Given the description of an element on the screen output the (x, y) to click on. 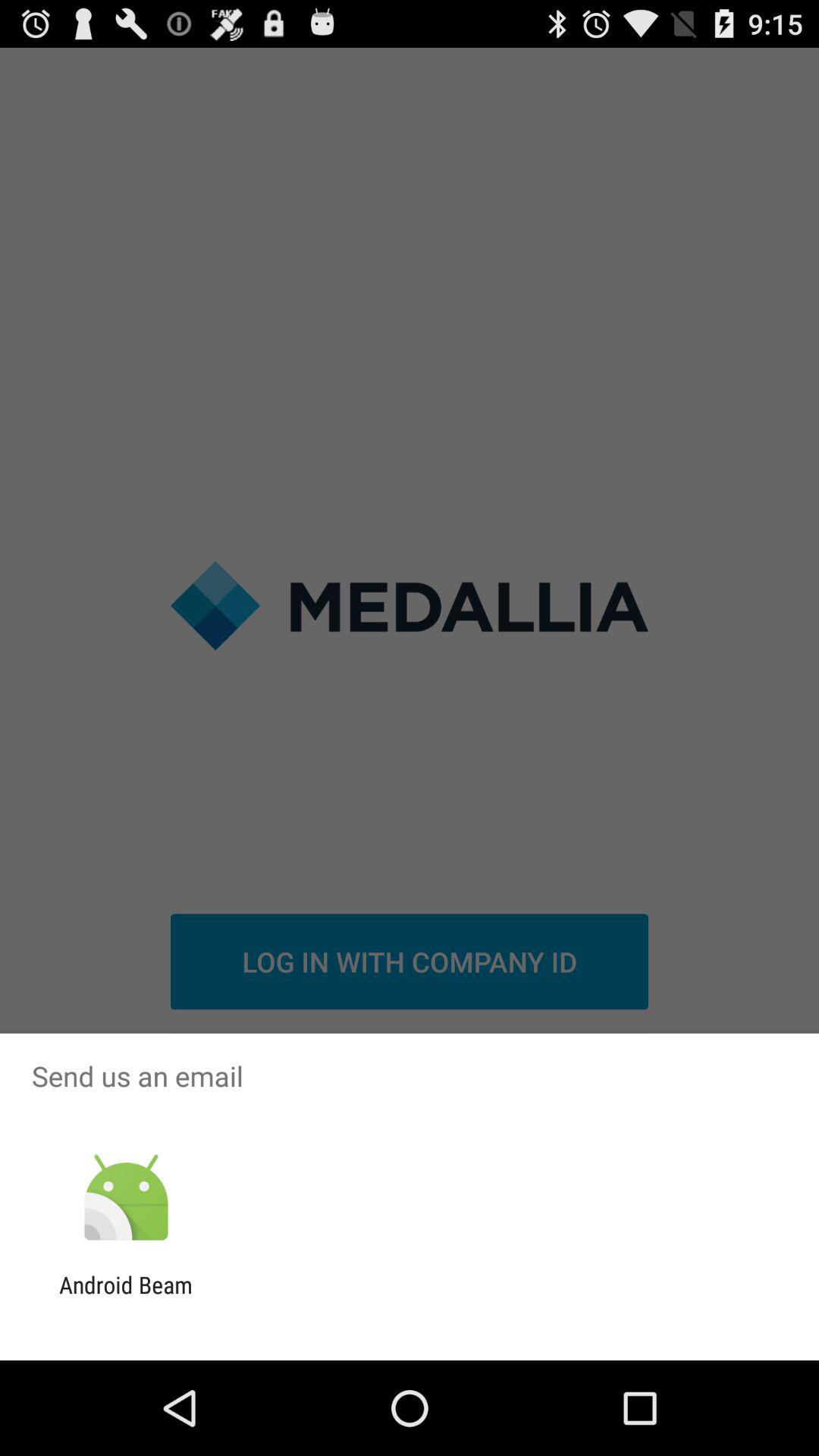
press icon above the android beam icon (126, 1198)
